Given the description of an element on the screen output the (x, y) to click on. 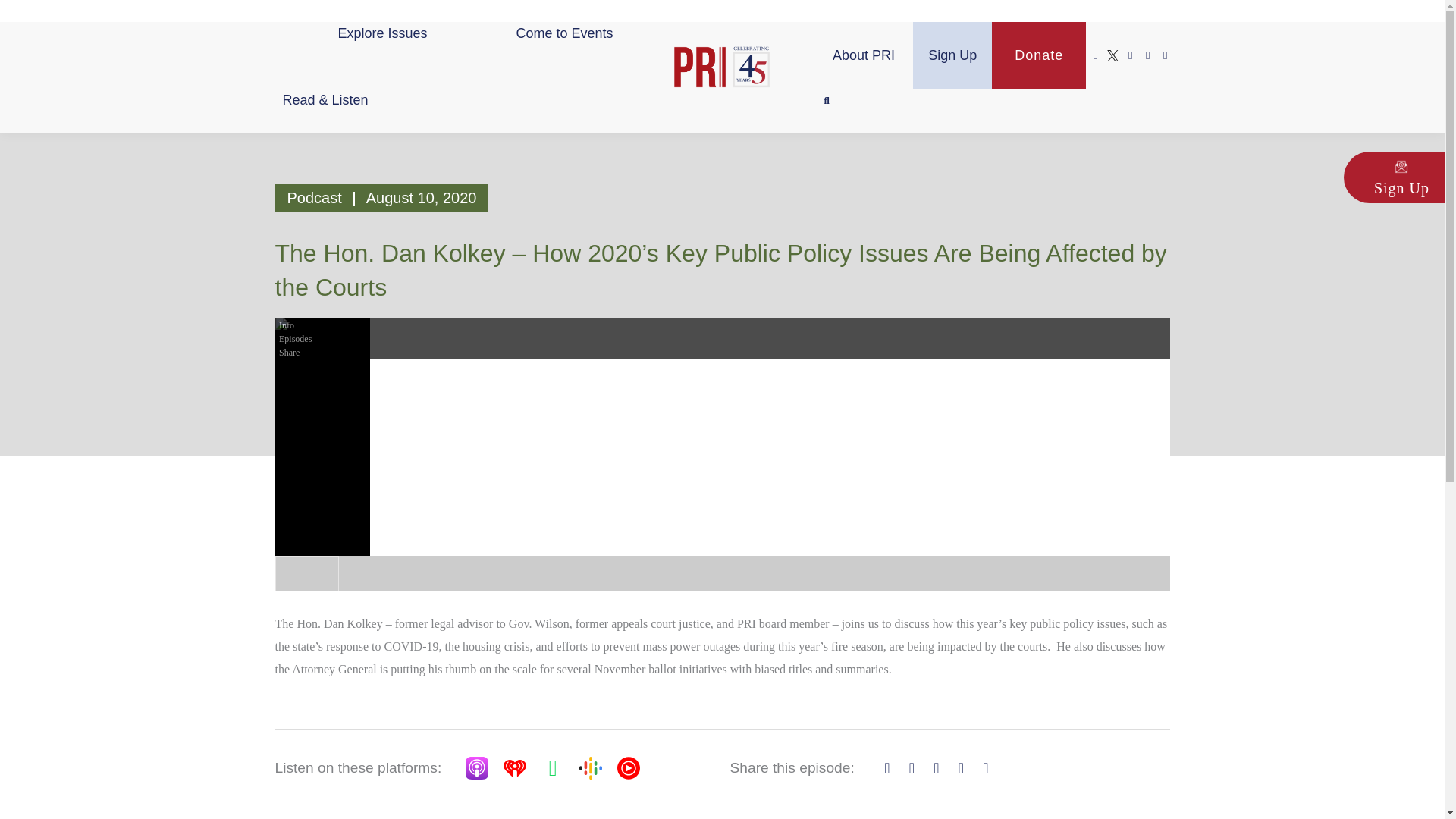
Explore Issues (381, 33)
Come to Events (563, 33)
